Given the description of an element on the screen output the (x, y) to click on. 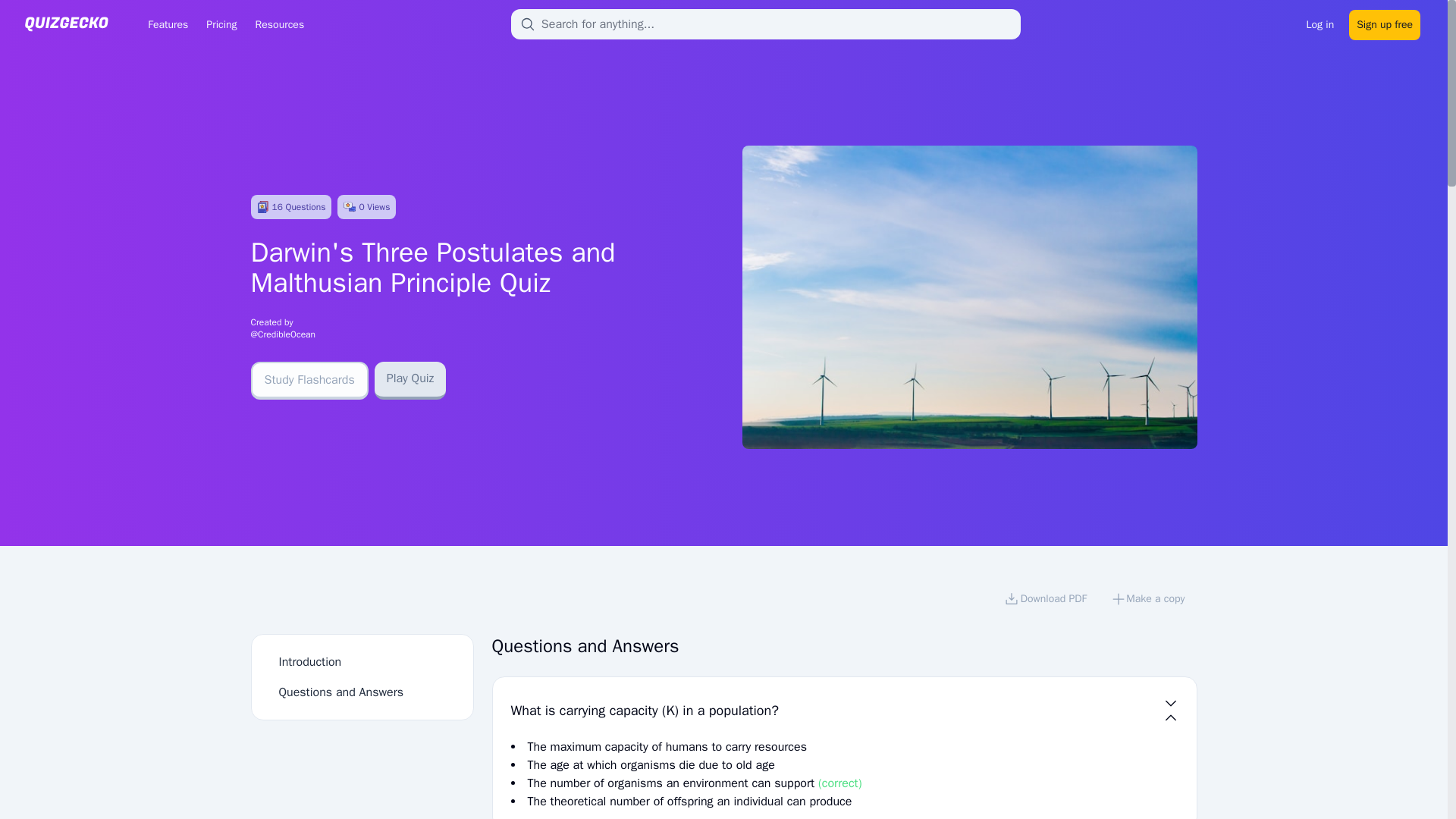
Download PDF (1045, 600)
Resources (279, 23)
Log in (1320, 23)
Make a copy (1147, 600)
Study Flashcards (309, 380)
Sign up free (1384, 23)
Questions and Answers (341, 692)
Introduction (310, 661)
Features (167, 23)
Play Quiz (410, 380)
